Given the description of an element on the screen output the (x, y) to click on. 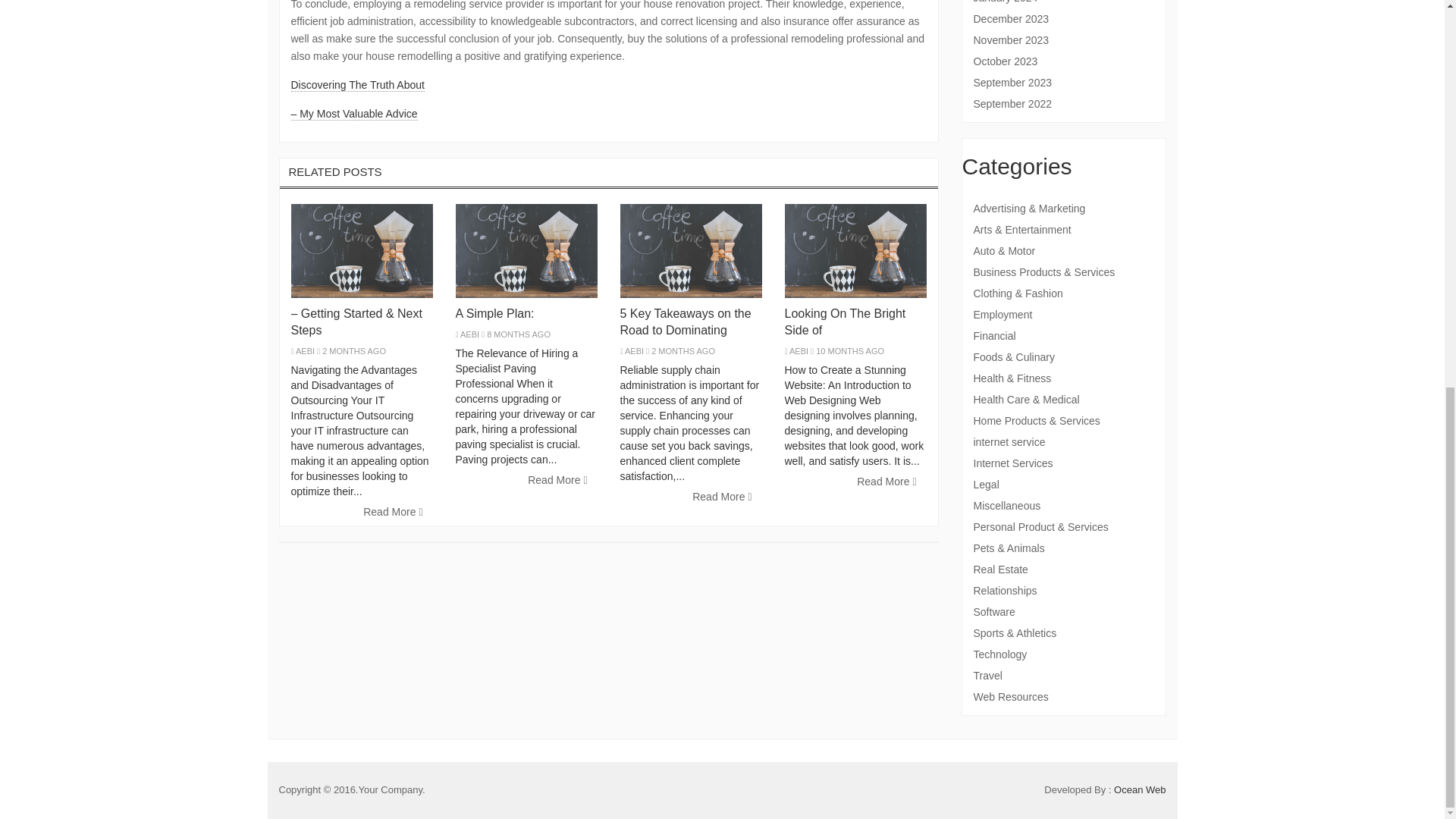
Discovering The Truth About (358, 84)
A Simple Plan: (494, 313)
Read More (392, 512)
Looking On The Bright Side of (844, 321)
Read More (557, 480)
5 Key Takeaways on the Road to Dominating (685, 321)
Read More (721, 497)
Read More (886, 482)
